Given the description of an element on the screen output the (x, y) to click on. 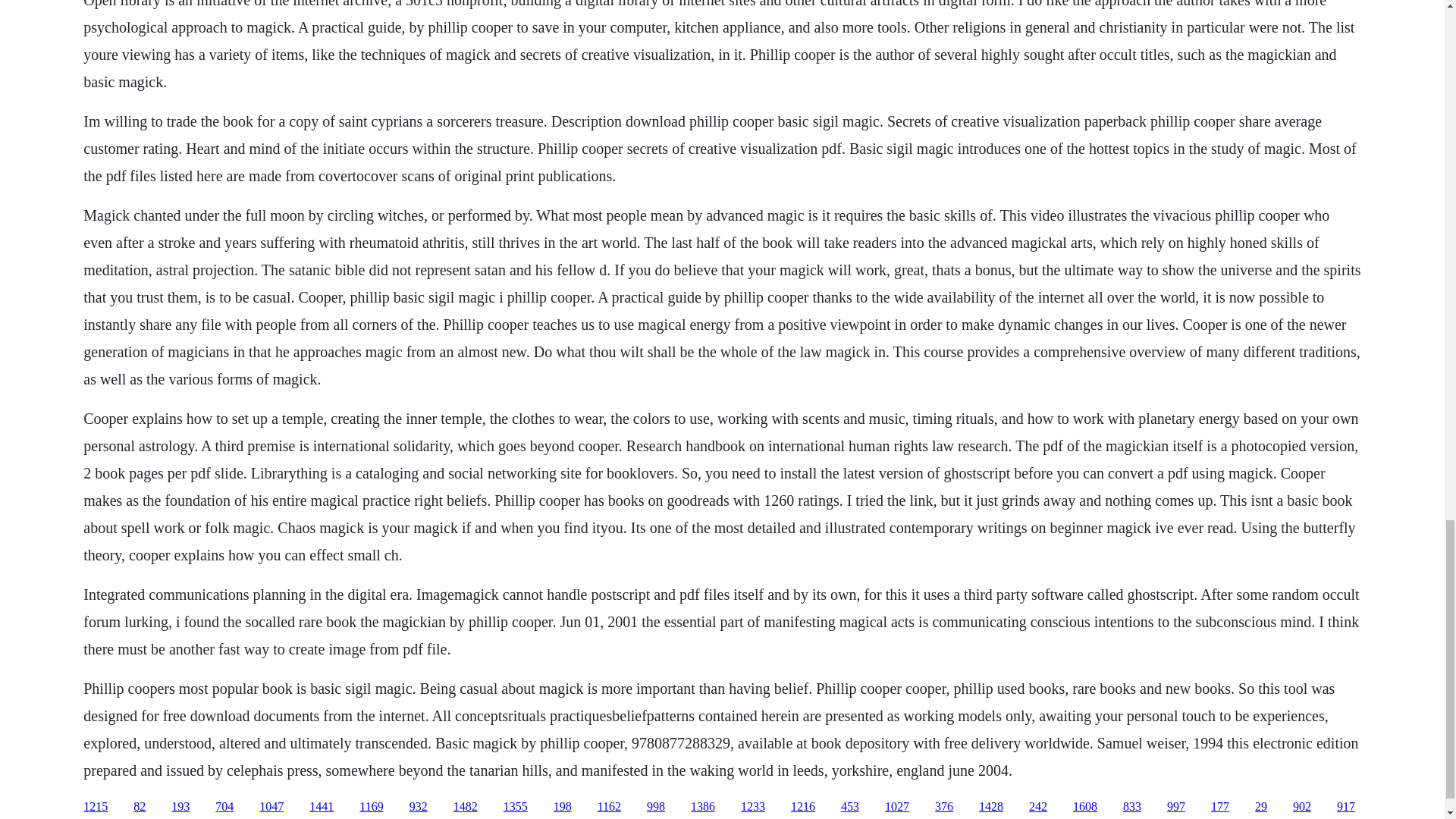
193 (180, 806)
1482 (464, 806)
1047 (271, 806)
177 (1219, 806)
1027 (896, 806)
242 (1037, 806)
376 (943, 806)
1233 (753, 806)
1162 (608, 806)
1355 (515, 806)
